Given the description of an element on the screen output the (x, y) to click on. 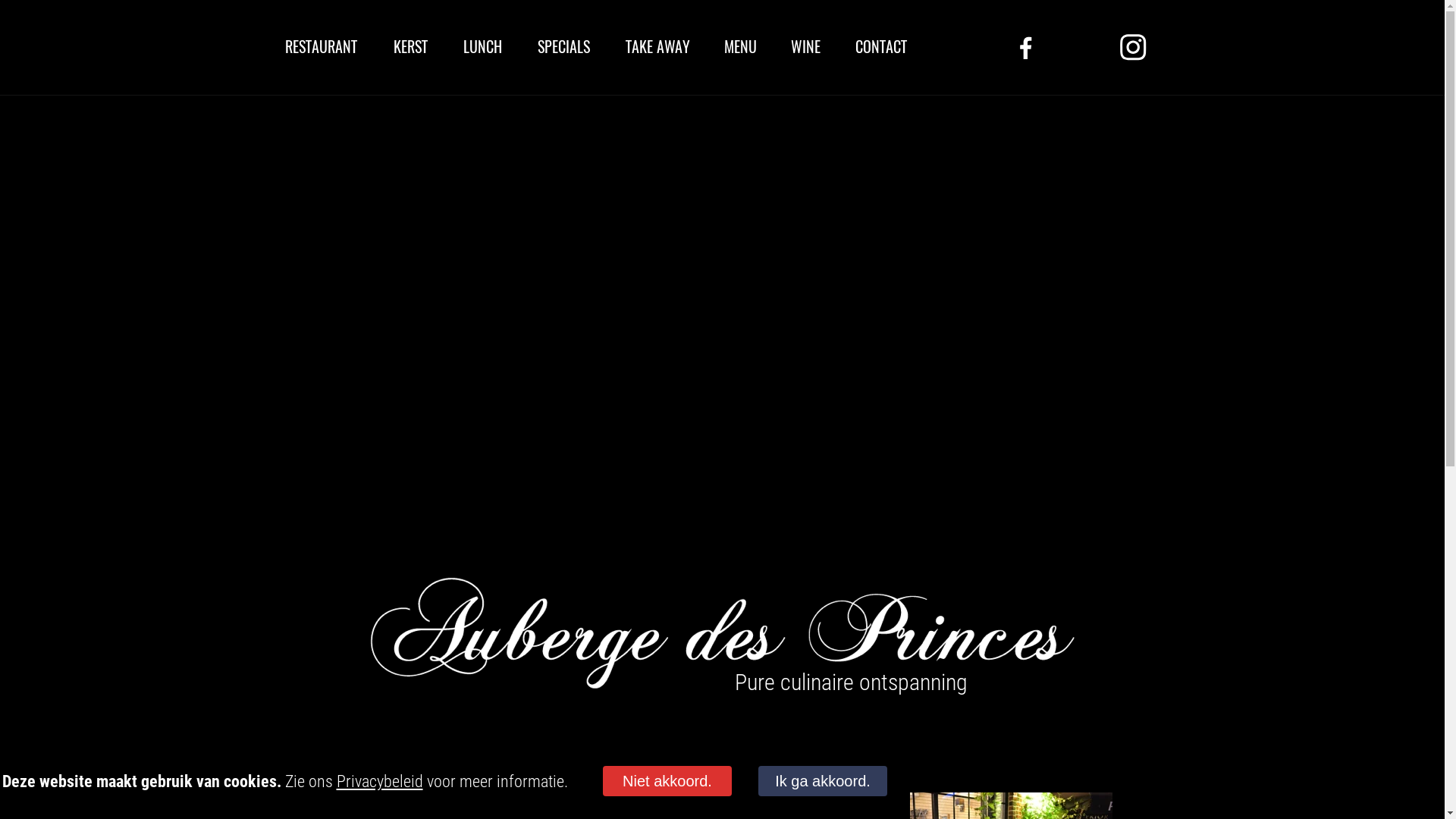
Privacybeleid Element type: text (379, 780)
